Given the description of an element on the screen output the (x, y) to click on. 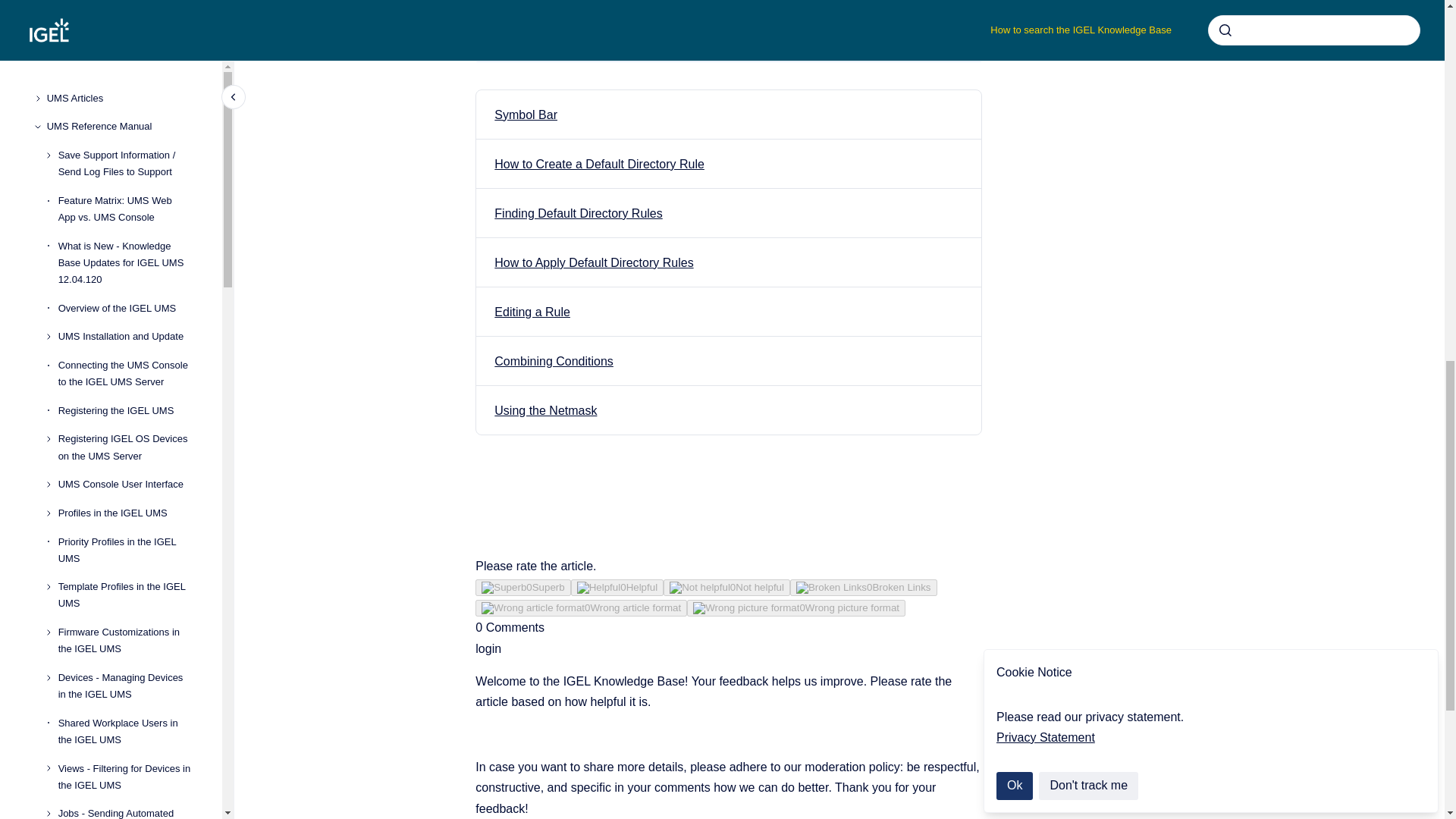
Symbol Bar (526, 114)
Using the Netmask (545, 410)
Combining Conditions (553, 360)
Finding Default Directory Rules (578, 213)
Editing a Rule (532, 311)
How to Apply Default Directory Rules (594, 262)
Jobs - Sending Automated Commands to Devices in the IGEL UMS (128, 21)
How to Create a Default Directory Rule (599, 164)
